Given the description of an element on the screen output the (x, y) to click on. 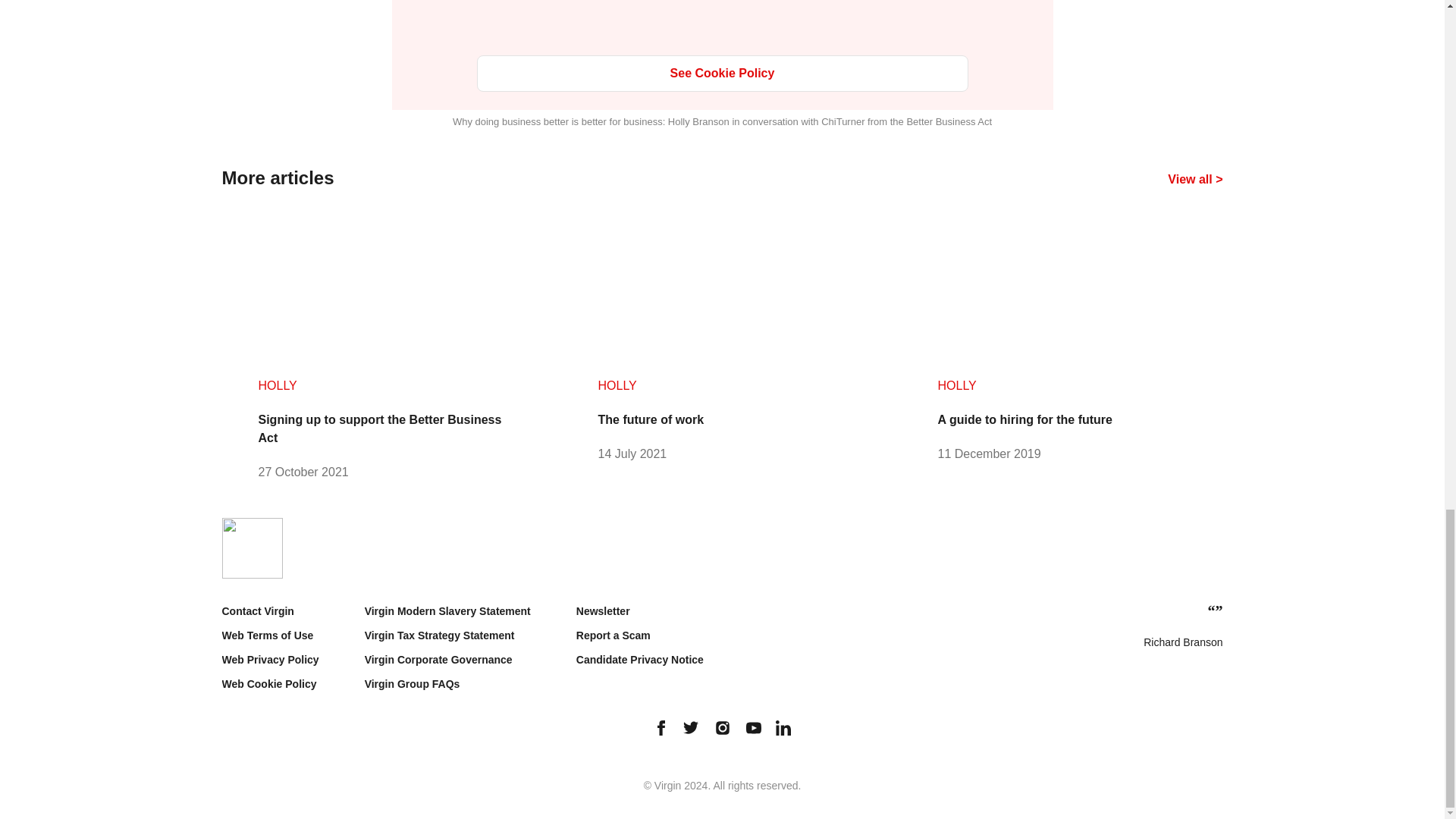
Report a Scam (613, 635)
Virgin Modern Slavery Statement (448, 611)
Newsletter (603, 611)
Candidate Privacy Notice (639, 659)
Virgin Tax Strategy Statement (440, 635)
Virgin Corporate Governance (438, 659)
Contact Virgin (257, 611)
Web Privacy Policy (269, 659)
See Cookie Policy (722, 73)
Virgin Group FAQs (412, 684)
